Given the description of an element on the screen output the (x, y) to click on. 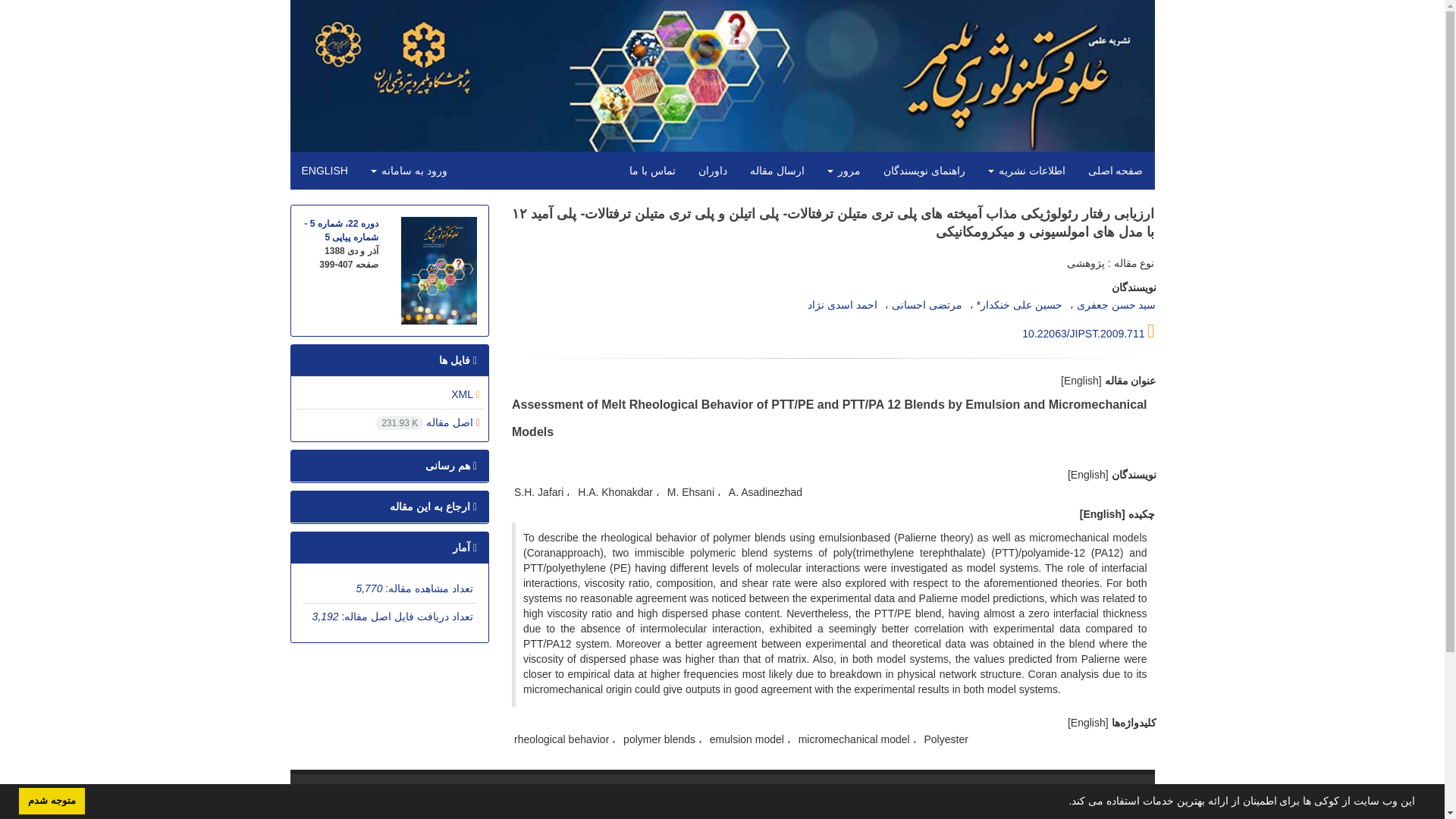
XML (465, 394)
ENGLISH (323, 170)
